Given the description of an element on the screen output the (x, y) to click on. 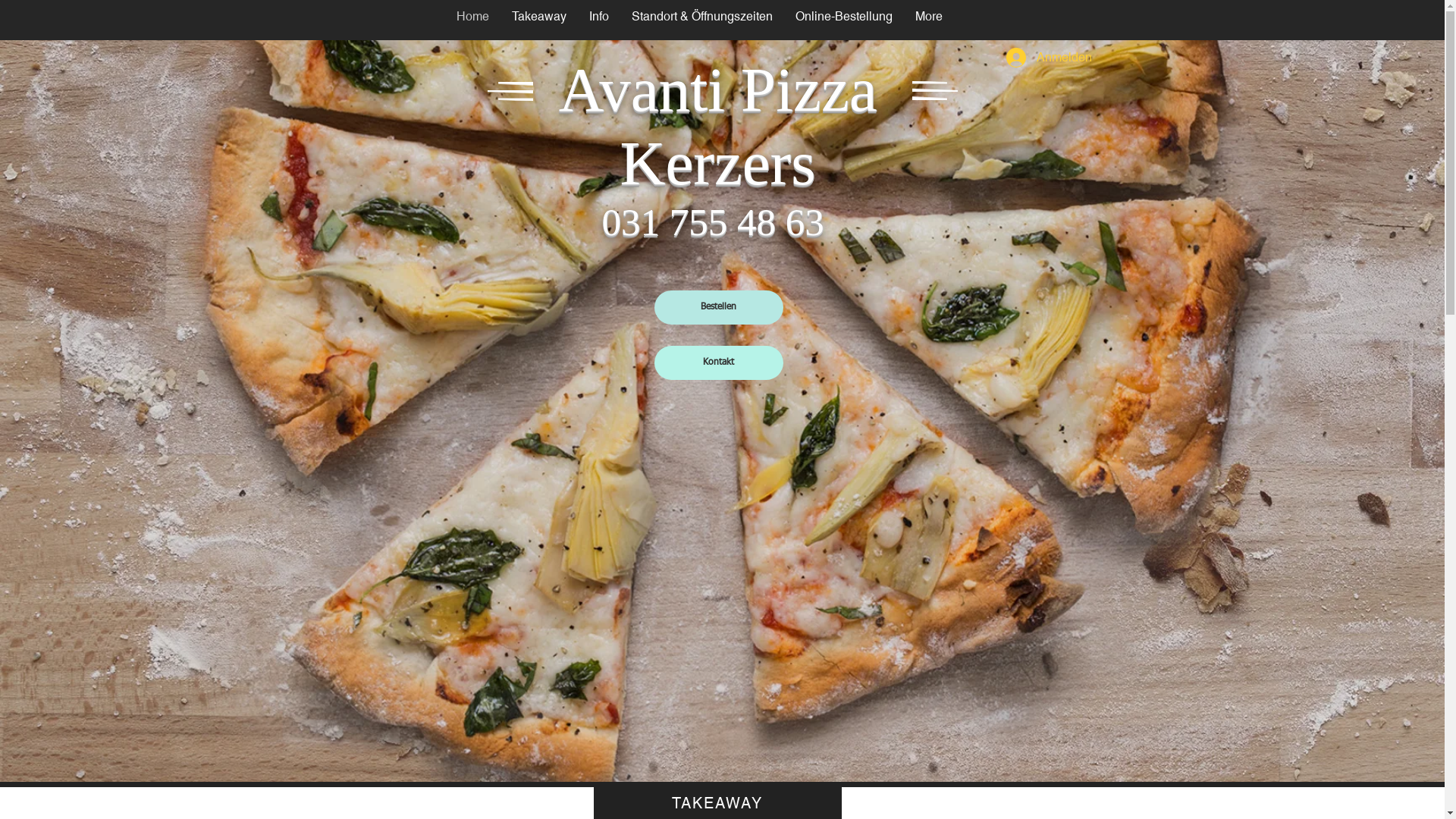
Anmelden Element type: text (1039, 57)
Online-Bestellung Element type: text (843, 19)
Home Element type: text (472, 19)
Kontakt Element type: text (717, 362)
Info Element type: text (598, 19)
Bestellen Element type: text (717, 307)
Takeaway Element type: text (538, 19)
